Given the description of an element on the screen output the (x, y) to click on. 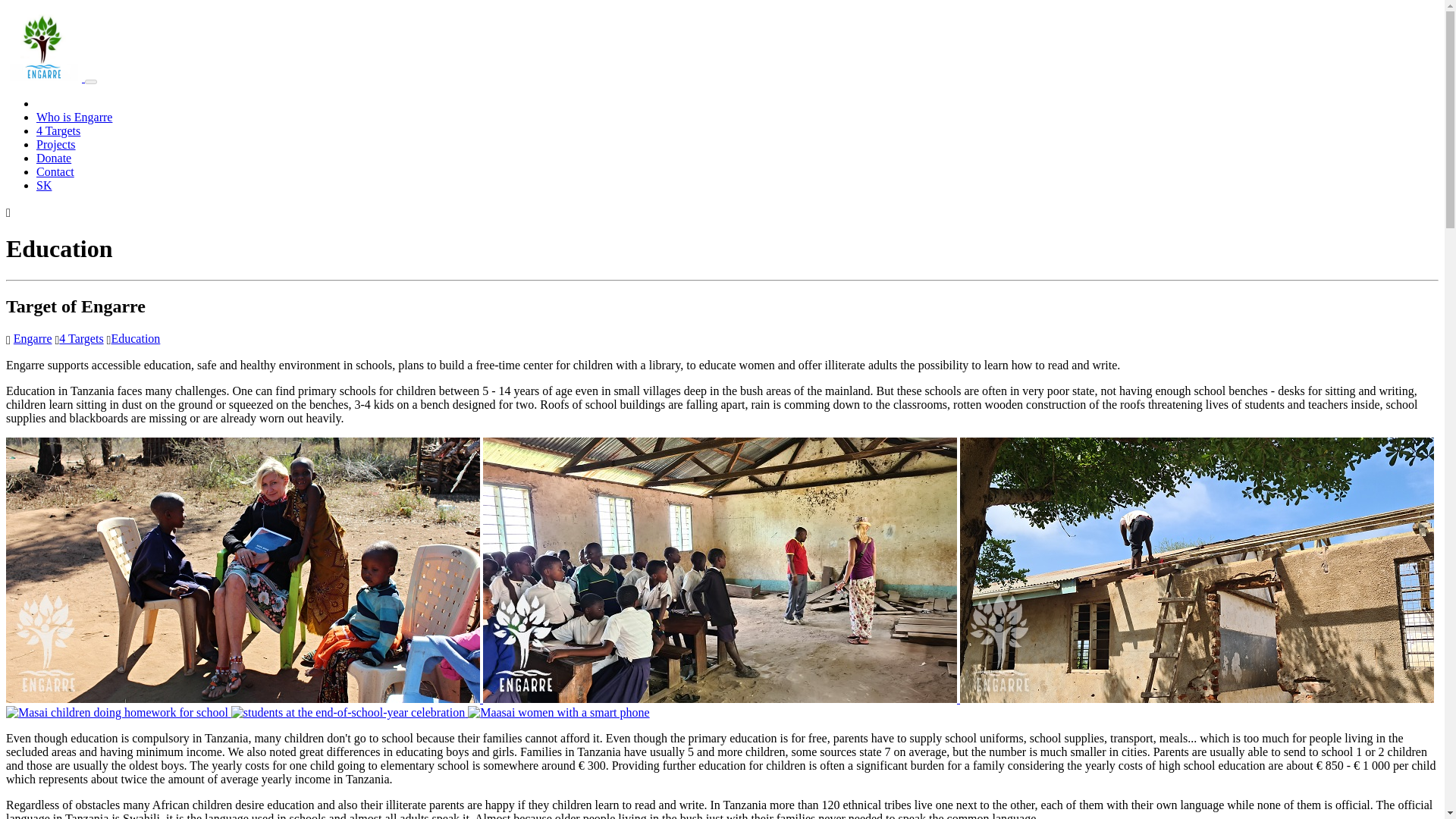
Slovak (43, 185)
Bringing education in a modern way to Maasai women (558, 712)
4 Targets (81, 338)
Target of Engarre: Education (135, 338)
Projects (55, 144)
Children in Tanzania wear uniforms in schools (349, 712)
Who is Engarre (74, 116)
Education (135, 338)
